Given the description of an element on the screen output the (x, y) to click on. 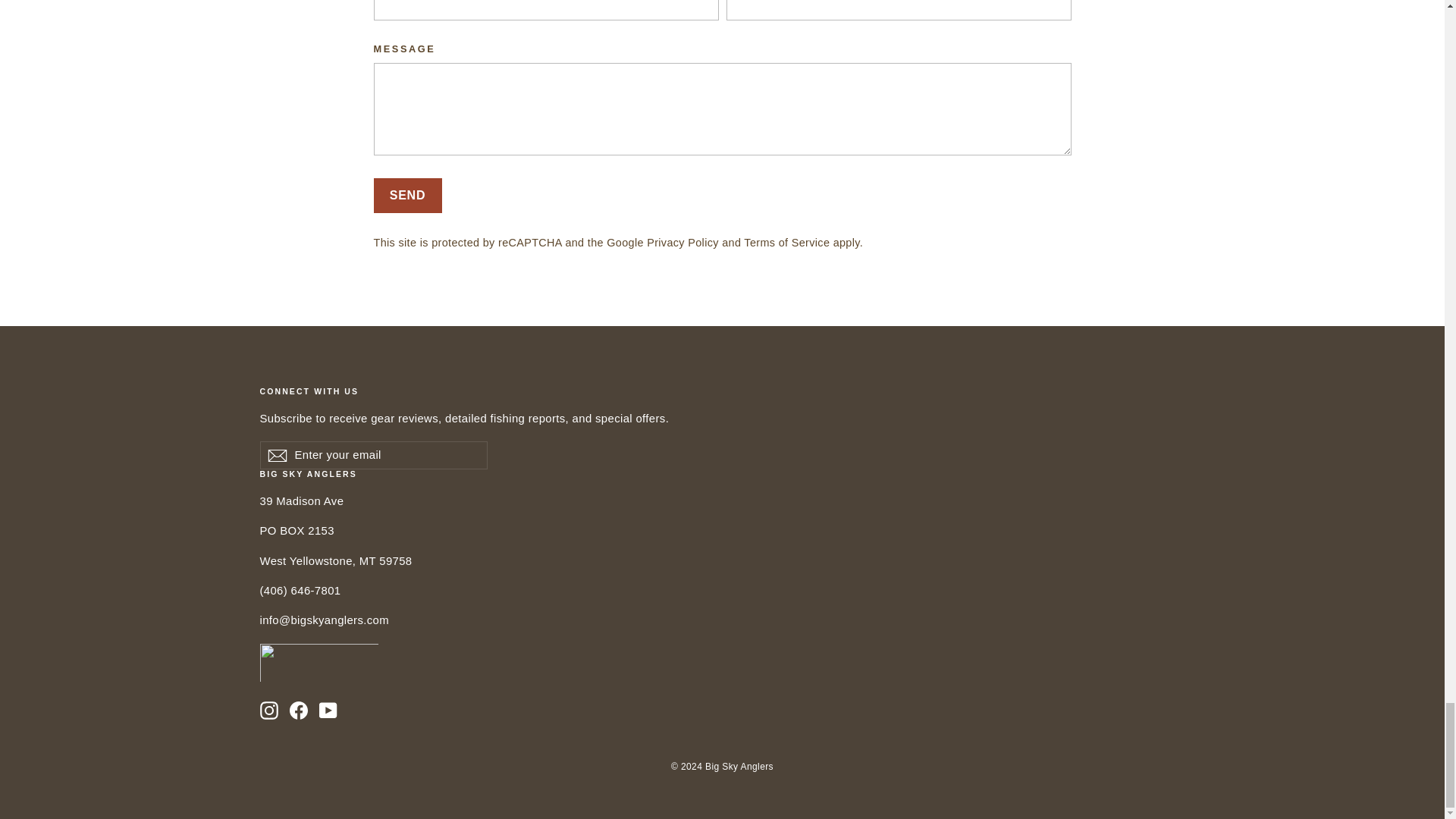
Big Sky Anglers on Instagram (268, 710)
Big Sky Anglers on Facebook (298, 710)
Big Sky Anglers on YouTube (327, 710)
